Given the description of an element on the screen output the (x, y) to click on. 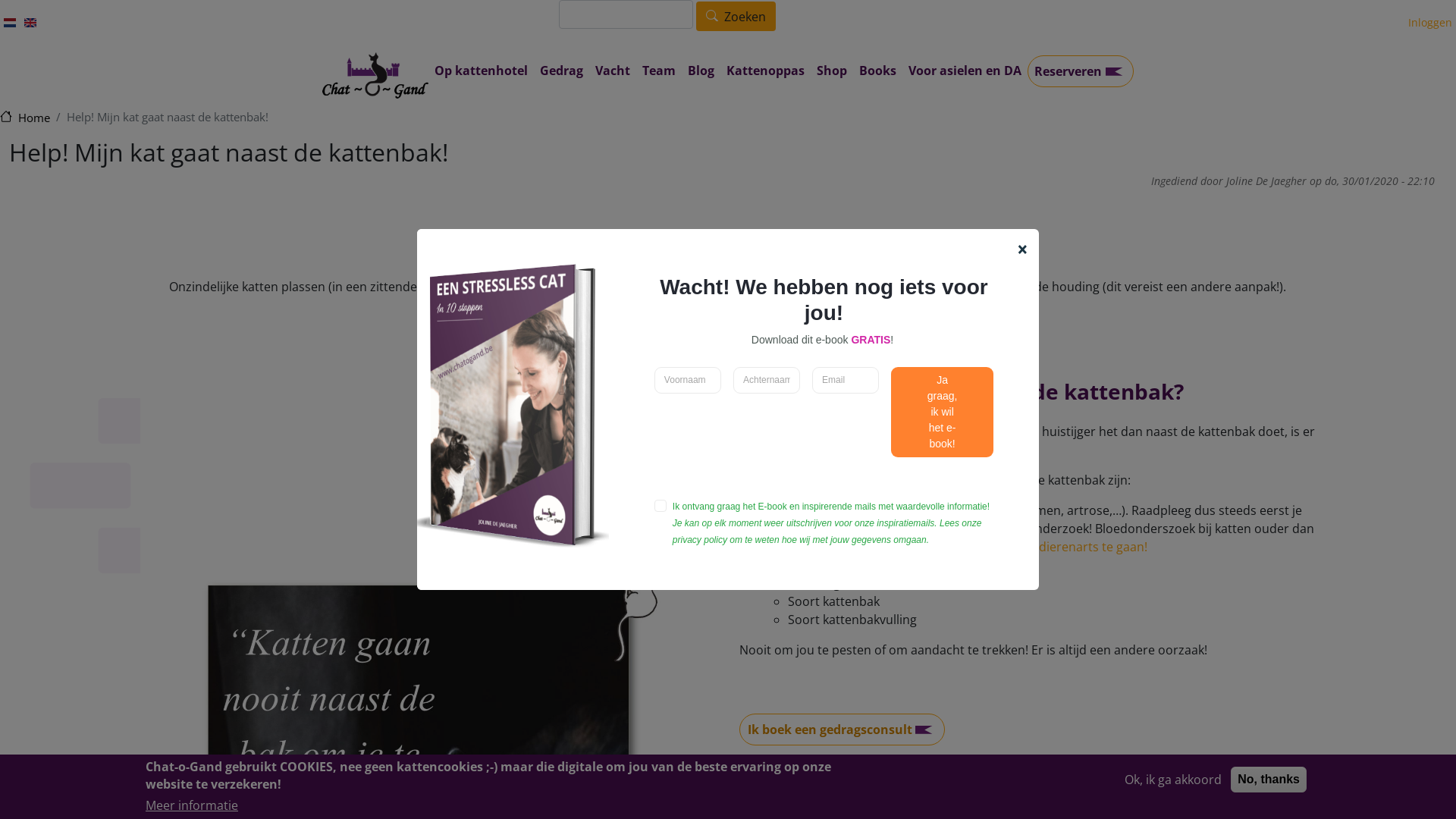
Shop Element type: text (831, 70)
Meer informatie Element type: text (191, 805)
Home Element type: text (375, 75)
Dutch Element type: hover (9, 22)
Kattenoppas Element type: text (765, 70)
Voor asielen en DA Element type: text (964, 70)
Blog Element type: text (700, 70)
No, thanks Element type: text (1268, 779)
Ik boek een gedragsconsult Element type: text (841, 729)
English Element type: hover (30, 22)
Raadpleeg de tips om stressless naar de dierenarts te gaan! Element type: text (976, 546)
Geef de woorden op waarnaar u wilt zoeken. Element type: hover (625, 14)
Op kattenhotel Element type: text (480, 70)
Ok, ik ga akkoord Element type: text (1172, 779)
Vacht Element type: text (612, 70)
Team Element type: text (658, 70)
Home Element type: text (25, 117)
Gedrag Element type: text (561, 70)
Zoeken Element type: text (735, 16)
Books Element type: text (877, 70)
Reserveren Element type: text (1080, 71)
